Given the description of an element on the screen output the (x, y) to click on. 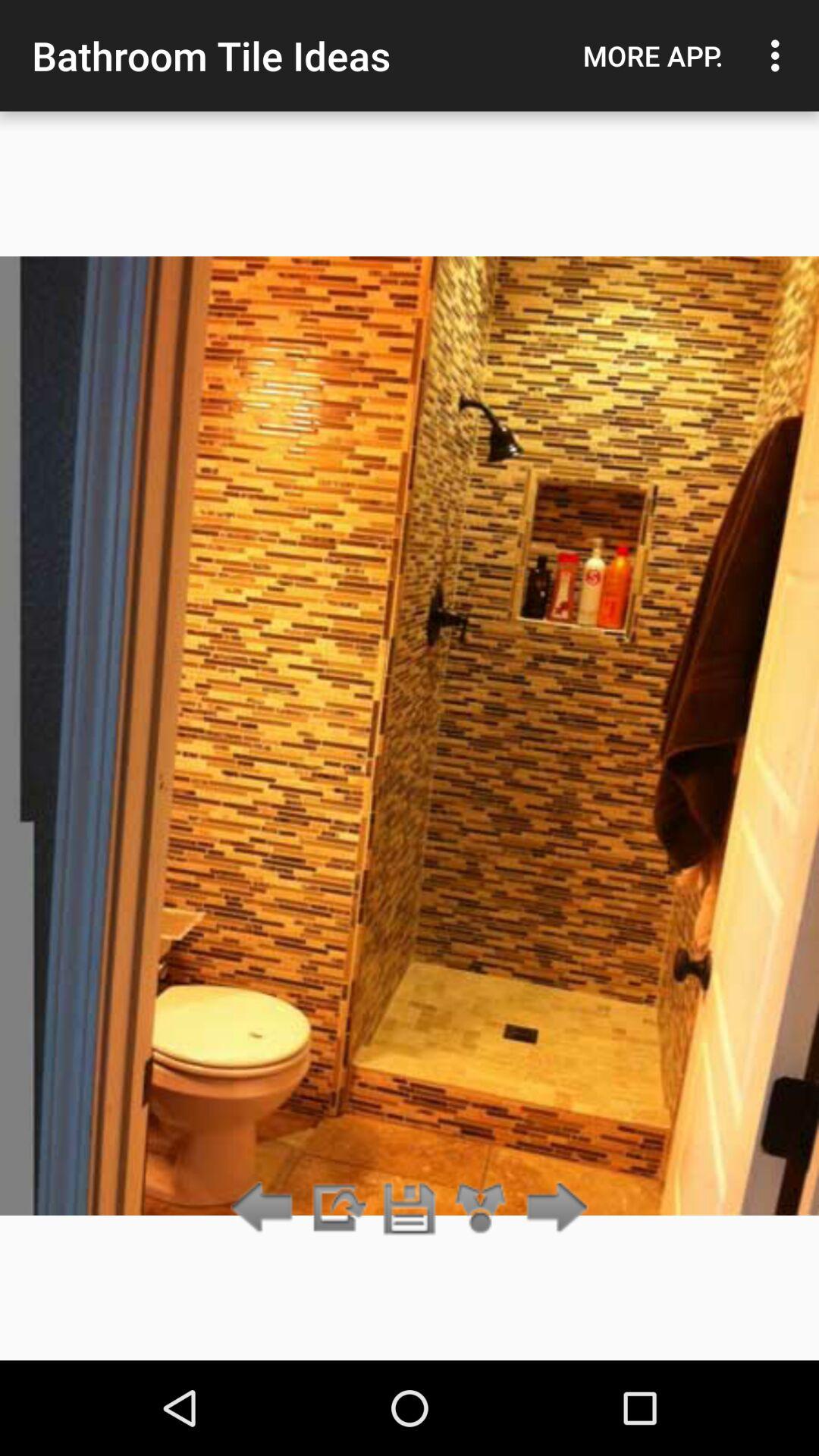
export image (337, 1208)
